Given the description of an element on the screen output the (x, y) to click on. 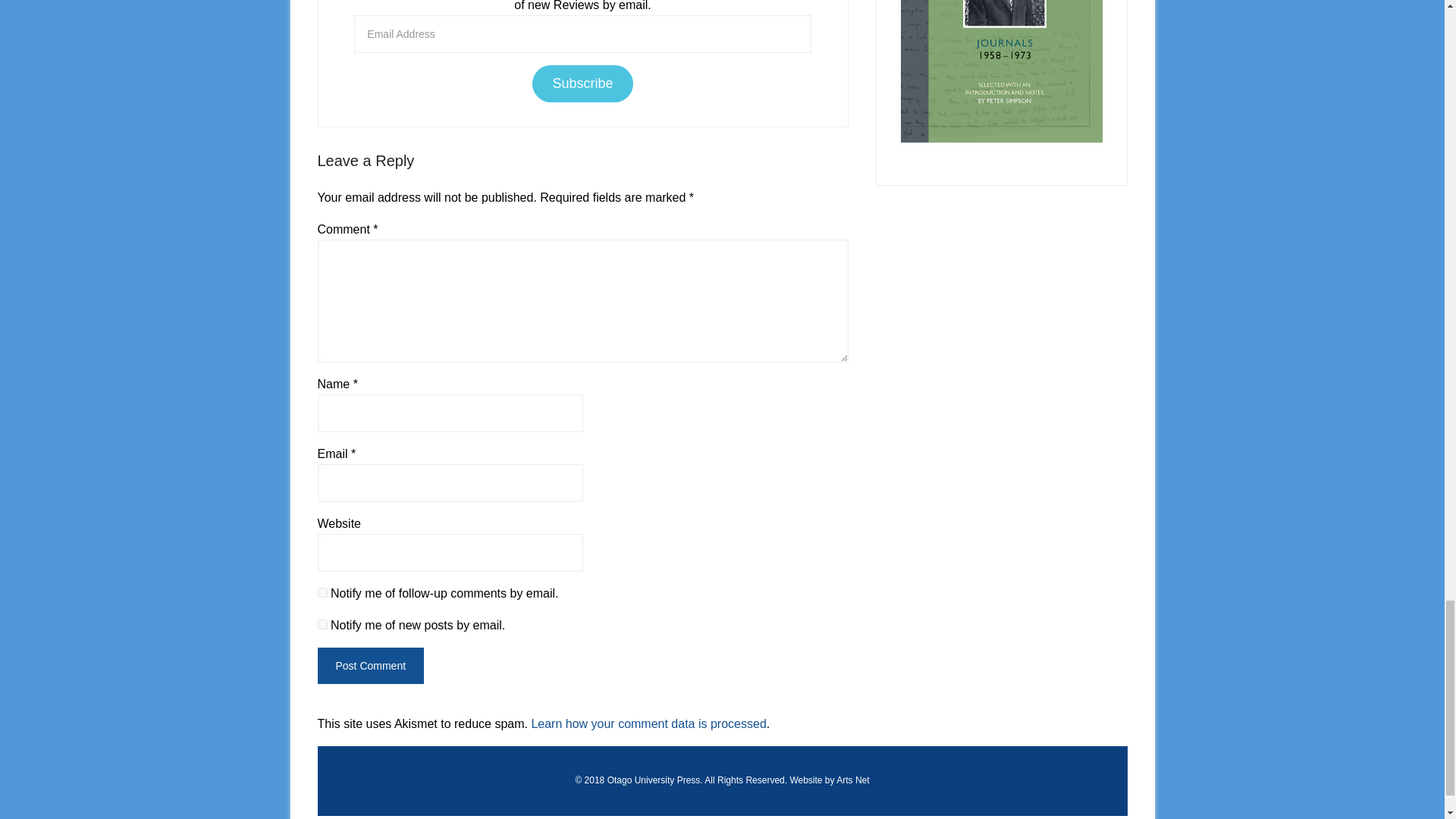
subscribe (321, 592)
Subscribe (581, 83)
Post Comment (370, 665)
Arts Net (852, 779)
Charles Brasch Journals (1001, 70)
Opens new window (852, 779)
subscribe (321, 624)
Learn how your comment data is processed (648, 723)
Otago University Press (653, 779)
Opens new window (653, 779)
